Given the description of an element on the screen output the (x, y) to click on. 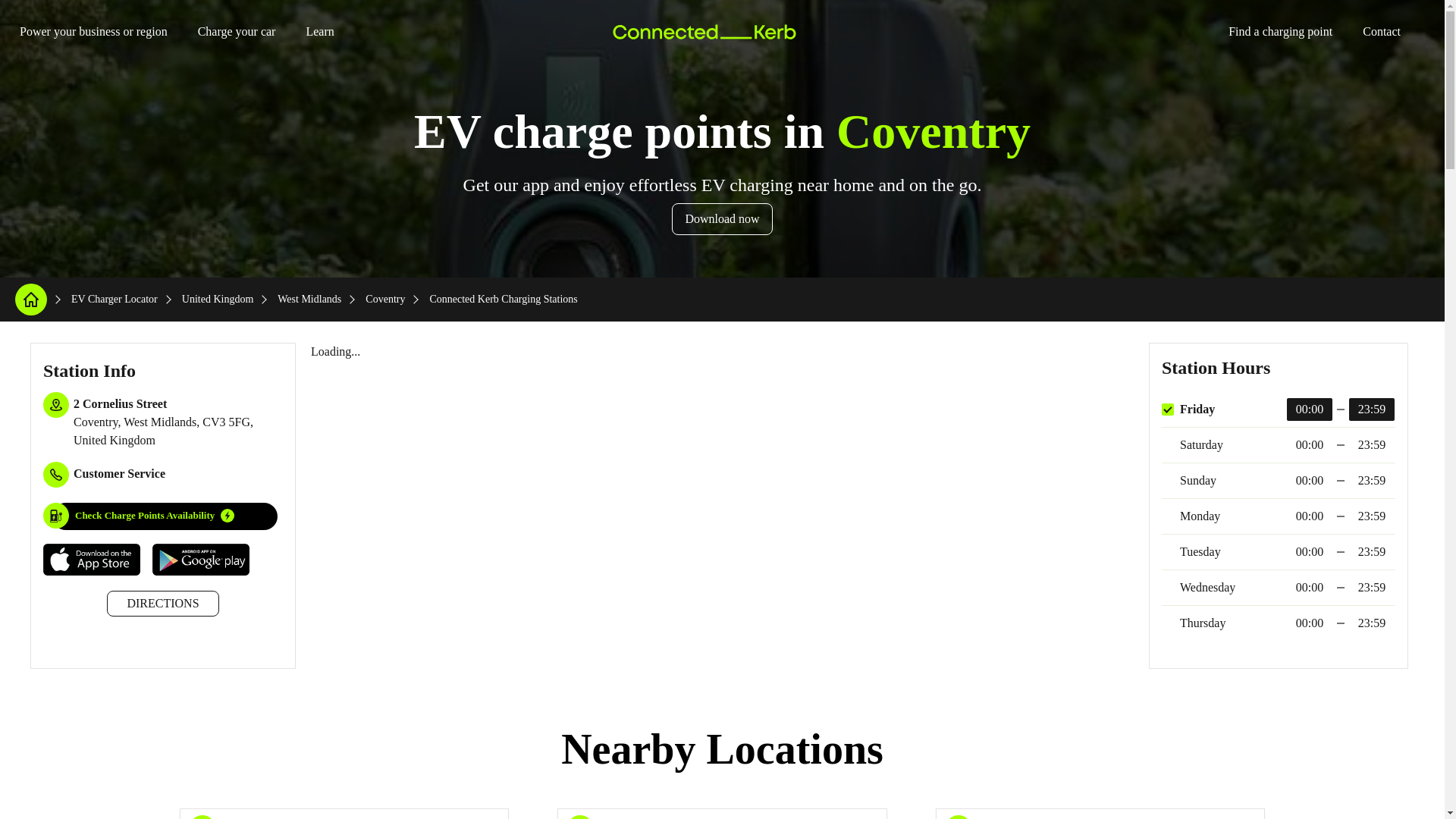
Contact (1375, 31)
Download now (721, 219)
Coventry (384, 299)
Find a charging point (1273, 31)
Customer Service (119, 472)
Learn (313, 31)
United Kingdom (217, 299)
West Midlands (309, 299)
DIRECTIONS (162, 603)
Power your business or region (87, 31)
Charge your car (231, 31)
EV Charger Locator (114, 299)
